Given the description of an element on the screen output the (x, y) to click on. 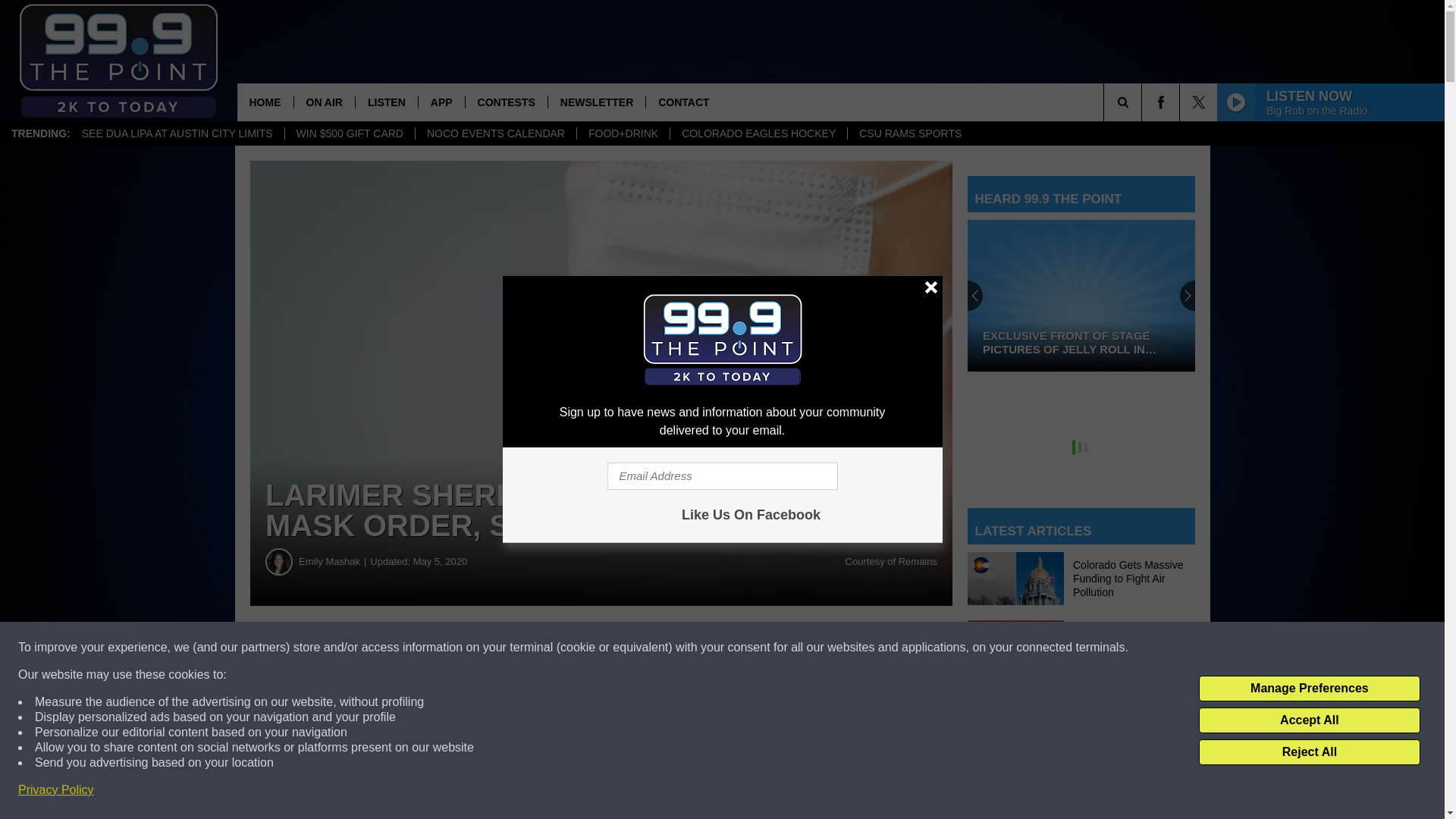
HOME (263, 102)
CONTESTS (505, 102)
Reject All (1309, 751)
Manage Preferences (1309, 688)
ON AIR (322, 102)
Email Address (722, 475)
SEE DUA LIPA AT AUSTIN CITY LIMITS (176, 133)
NEWSLETTER (596, 102)
SEARCH (1144, 102)
Share on Twitter (741, 647)
CONTACT (682, 102)
Share on Facebook (460, 647)
NOCO EVENTS CALENDAR (495, 133)
Accept All (1309, 720)
SEARCH (1144, 102)
